Given the description of an element on the screen output the (x, y) to click on. 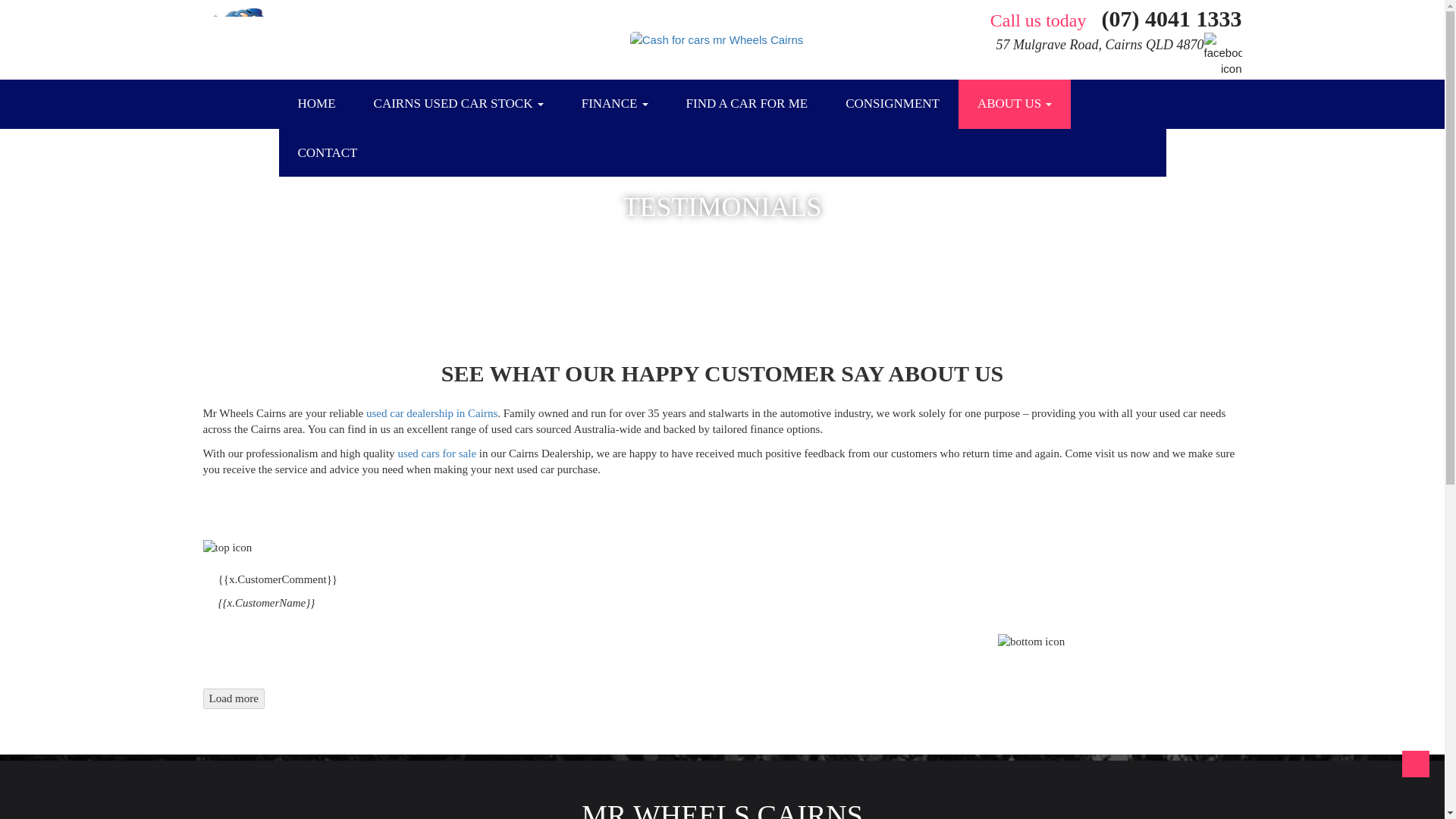
HOME (317, 103)
FIND A CAR FOR ME (746, 103)
CAIRNS USED CAR STOCK (458, 103)
used car dealership in Cairns (431, 413)
used cars for sale (436, 453)
FINANCE (614, 103)
CONTACT (328, 153)
Load more (233, 698)
ABOUT US (1014, 103)
CONSIGNMENT (892, 103)
